Given the description of an element on the screen output the (x, y) to click on. 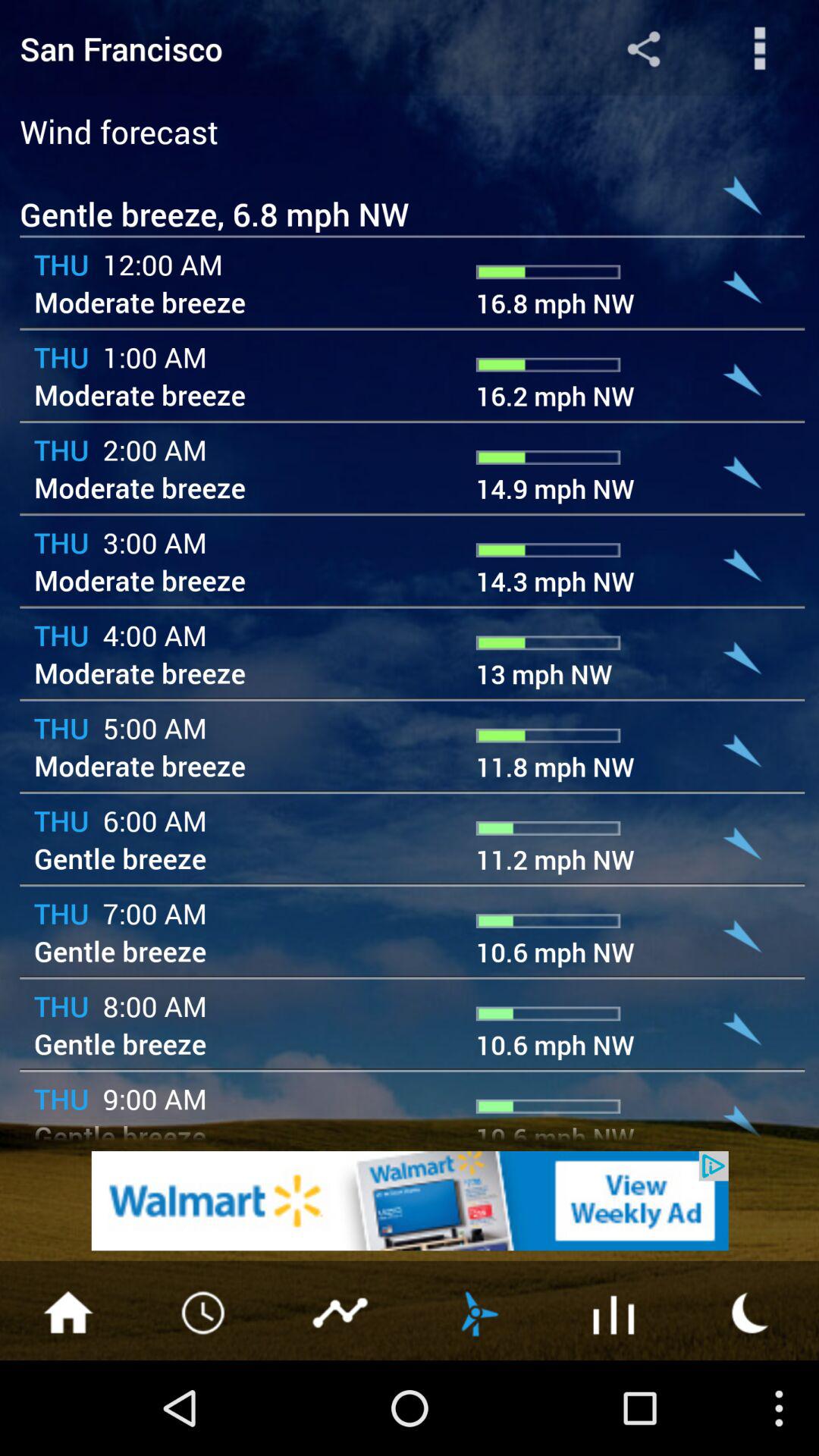
choose the selection (614, 1311)
